Given the description of an element on the screen output the (x, y) to click on. 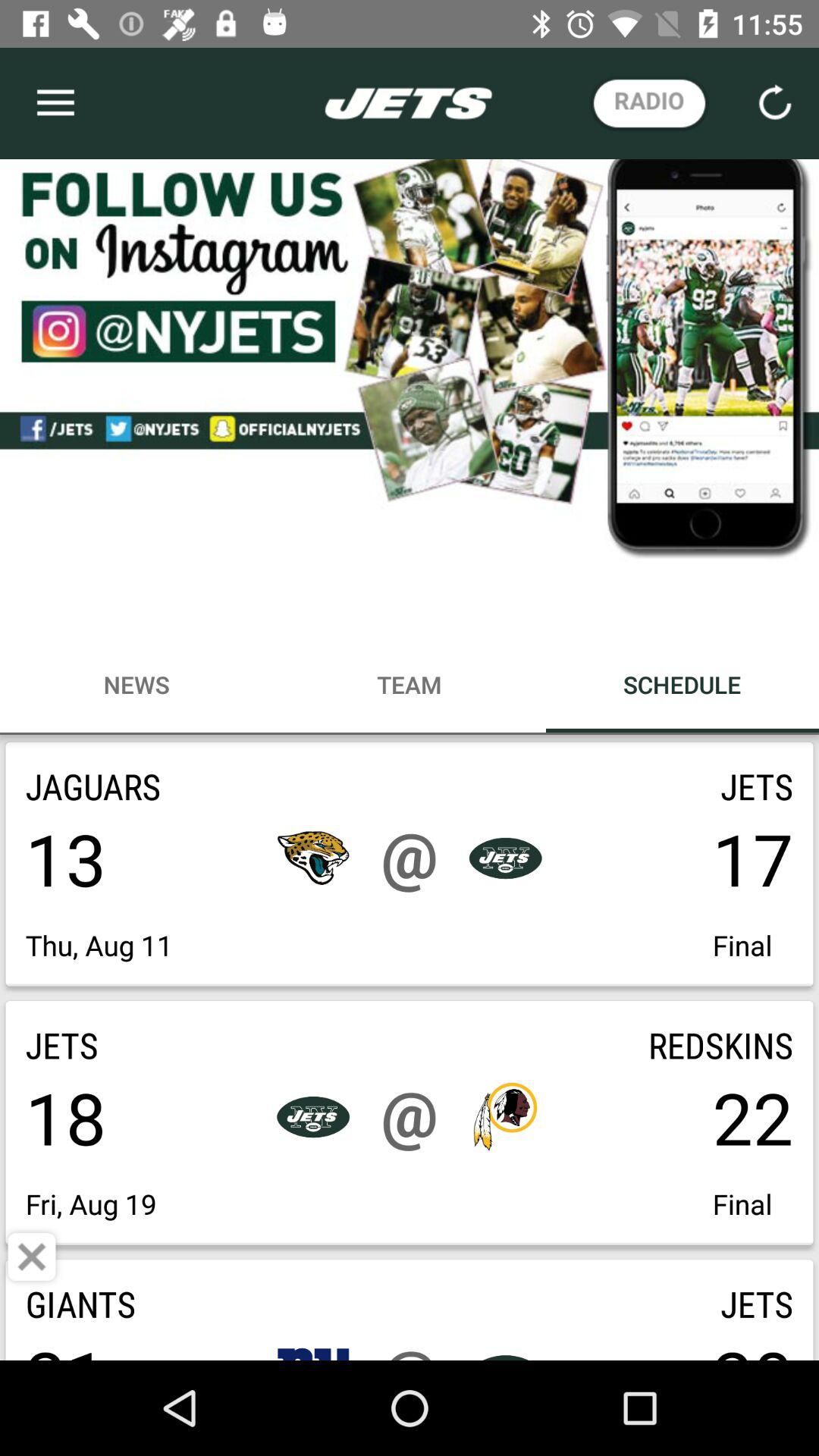
choose the icon to the left of jets item (31, 1256)
